Given the description of an element on the screen output the (x, y) to click on. 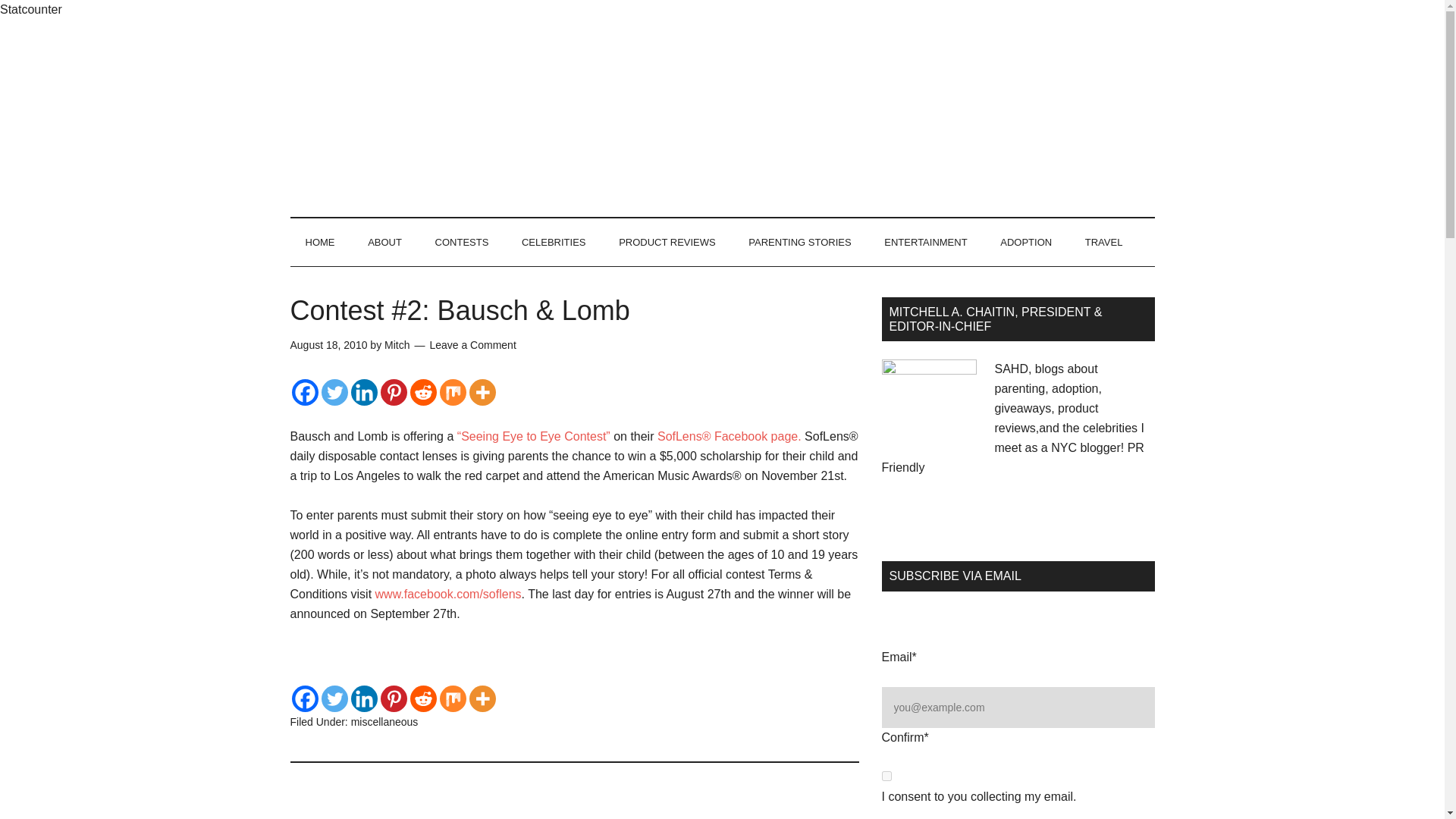
PRODUCT REVIEWS (667, 242)
CELEBRITIES (553, 242)
Reddit (422, 392)
Statcounter (31, 9)
Facebook (304, 698)
Pinterest (393, 698)
ENTERTAINMENT (925, 242)
CONTESTS (461, 242)
More (481, 392)
Leave a Comment (472, 345)
